Given the description of an element on the screen output the (x, y) to click on. 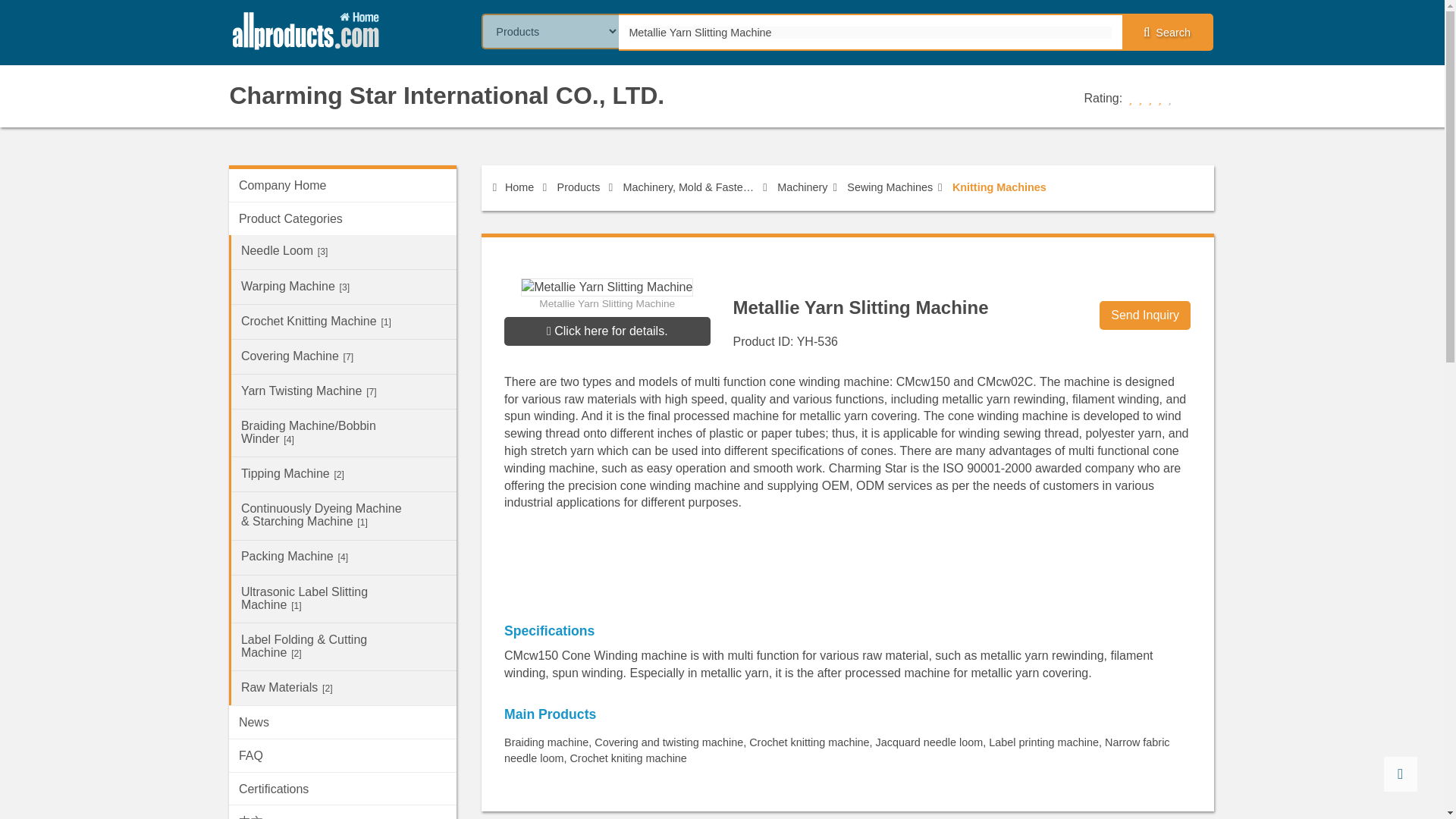
Metallie Yarn Slitting Machine (869, 32)
Metallie Yarn Slitting Machine (869, 32)
Metallie Yarn Slitting Machine (606, 330)
Click here for details. (606, 330)
FAQ (342, 755)
Home (513, 187)
Raw Materials (344, 687)
Products (578, 187)
Warping Machine (344, 286)
Products (578, 187)
Needle Loom (344, 252)
Tipping Machine (344, 474)
Send Inquiry (1145, 315)
Product Categories (342, 218)
Knitting Machines (999, 187)
